Given the description of an element on the screen output the (x, y) to click on. 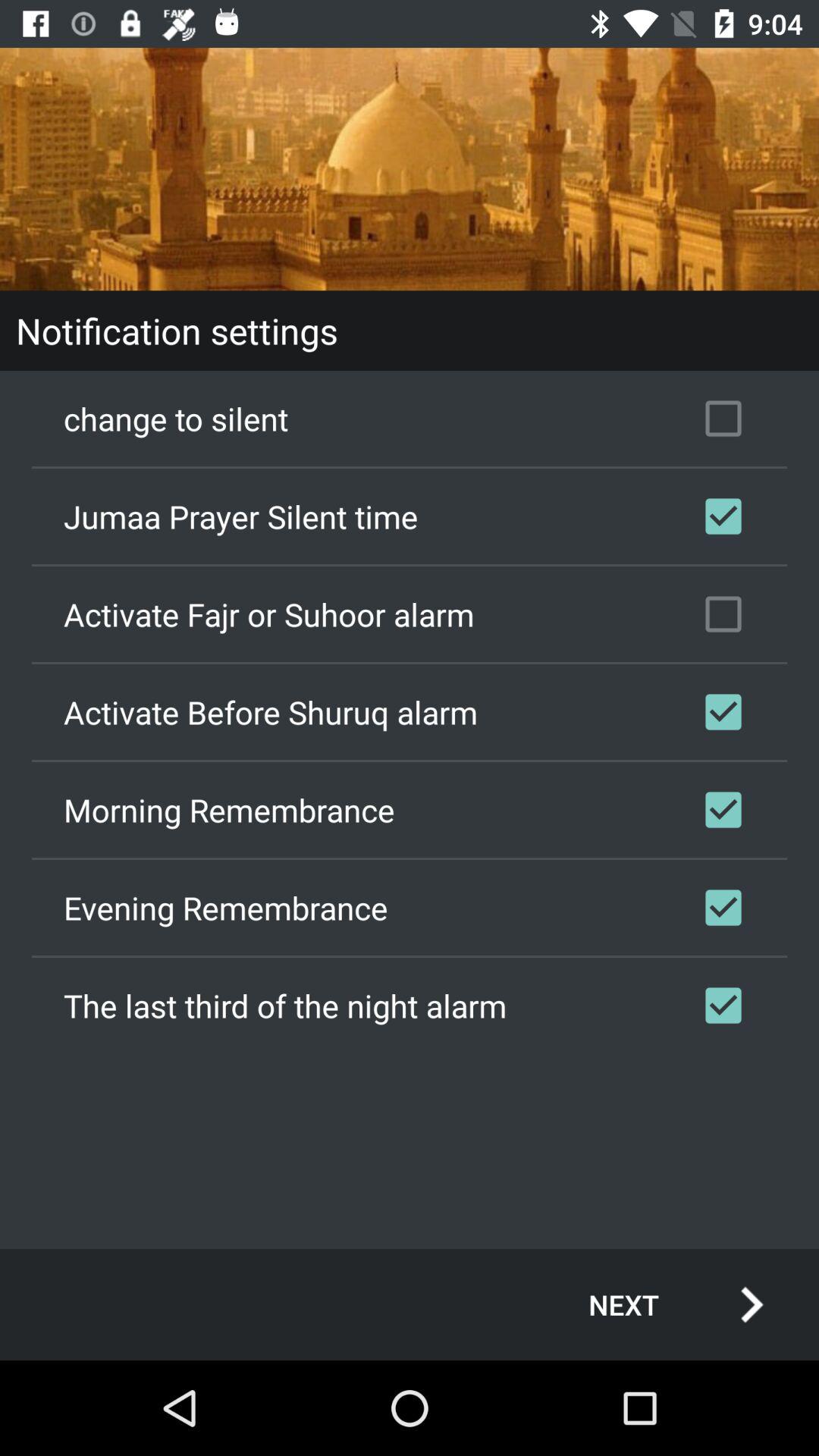
turn off the change to silent icon (409, 418)
